Given the description of an element on the screen output the (x, y) to click on. 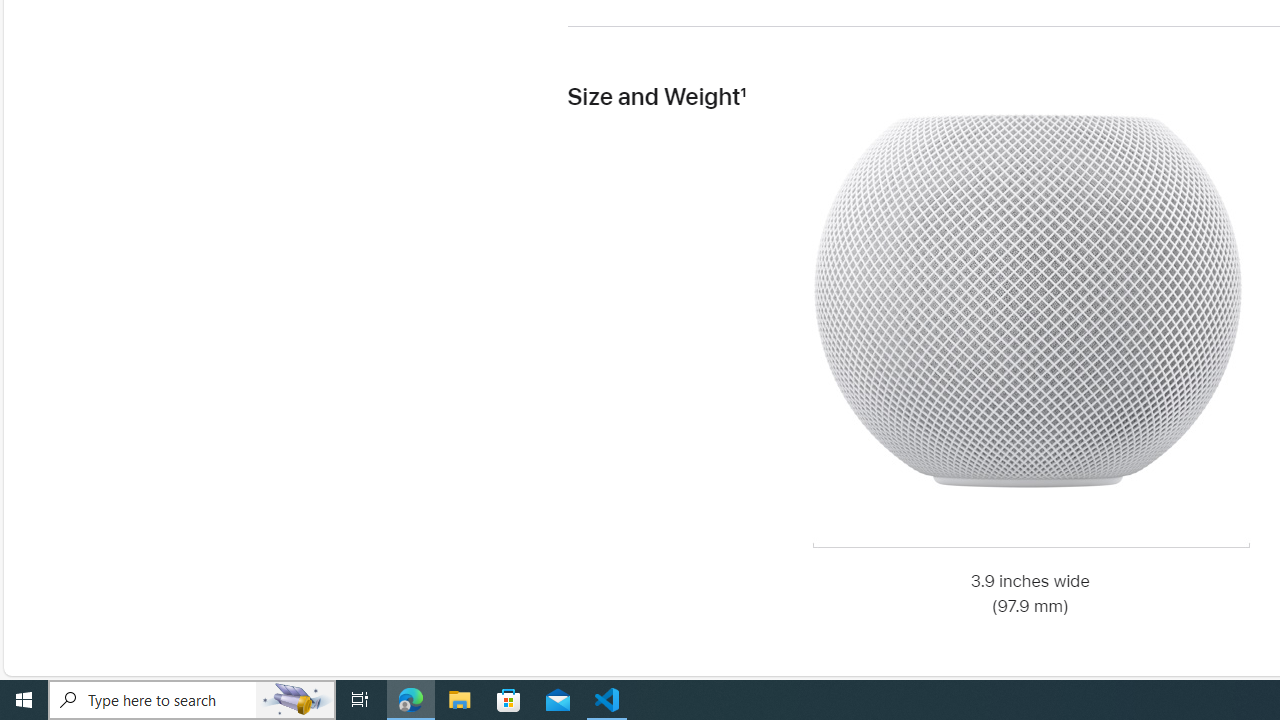
Footnote 1 (743, 97)
